Given the description of an element on the screen output the (x, y) to click on. 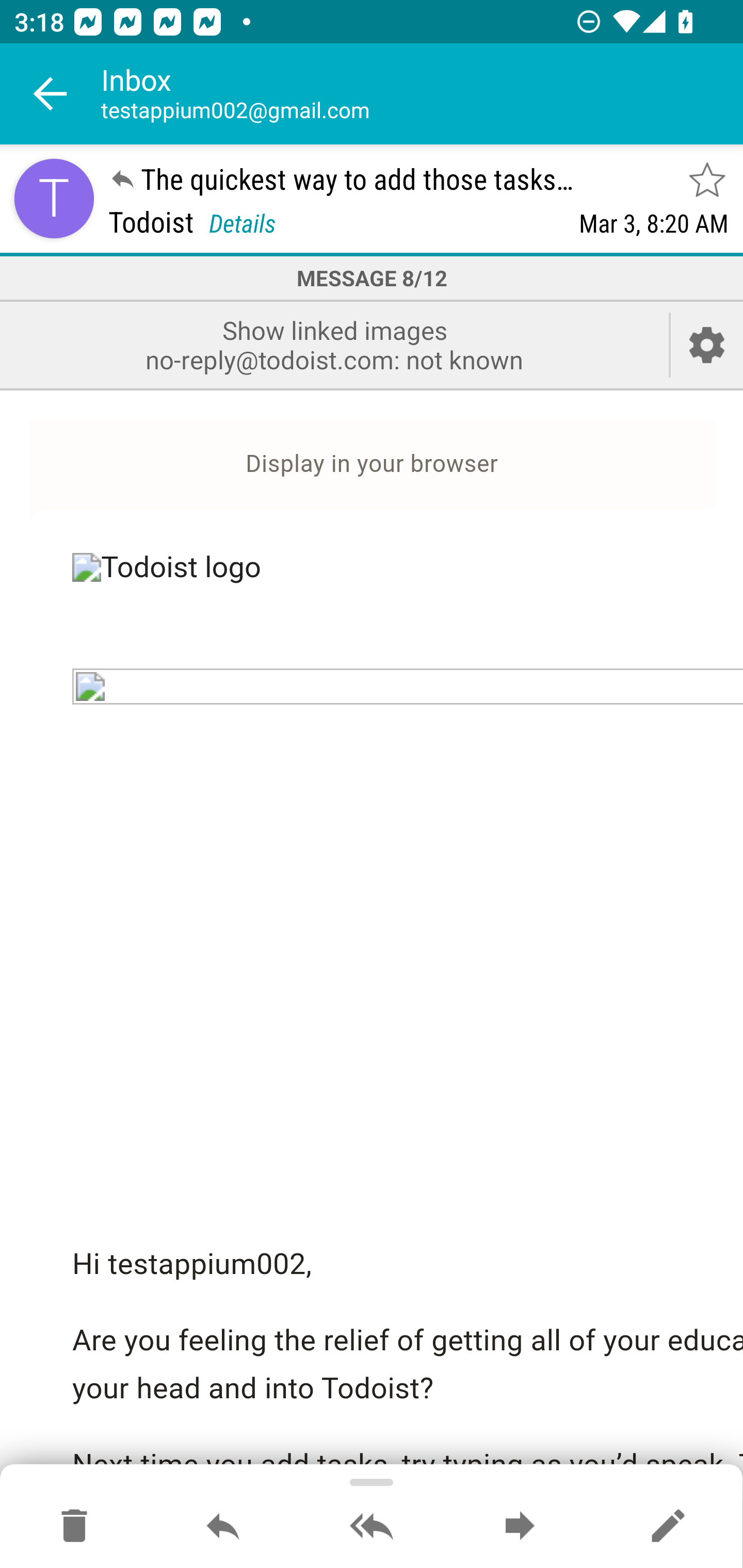
Navigate up (50, 93)
Inbox testappium002@gmail.com (422, 93)
Sender contact button (53, 198)
Show linked images
no-reply@todoist.com: not known (334, 344)
Account setup (706, 344)
Display in your browser (371, 464)
Move to Deleted (74, 1527)
Reply (222, 1527)
Reply all (371, 1527)
Forward (519, 1527)
Reply as new (667, 1527)
